Given the description of an element on the screen output the (x, y) to click on. 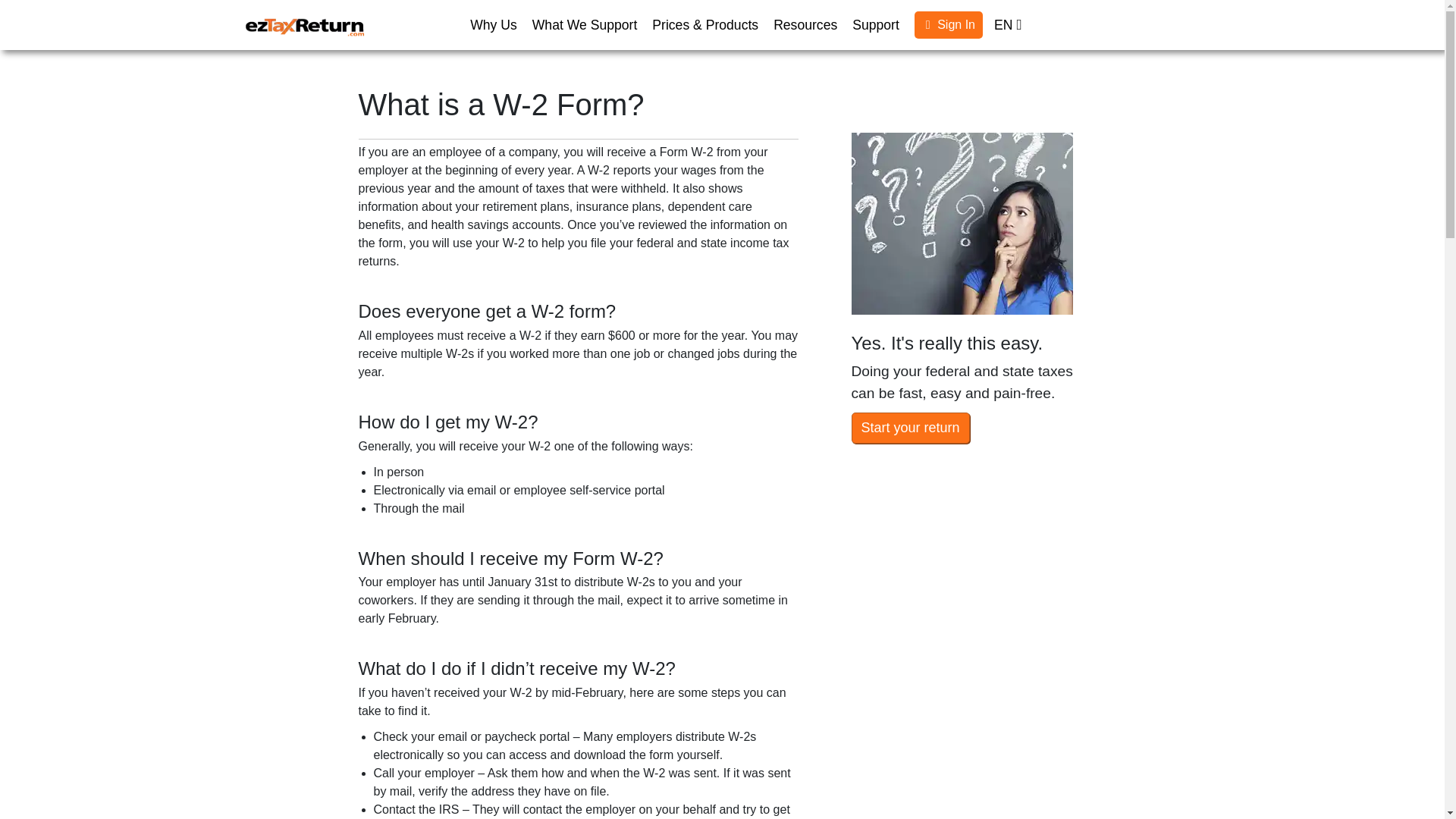
What We Support (584, 24)
Why Us (493, 24)
Resources (804, 24)
